Given the description of an element on the screen output the (x, y) to click on. 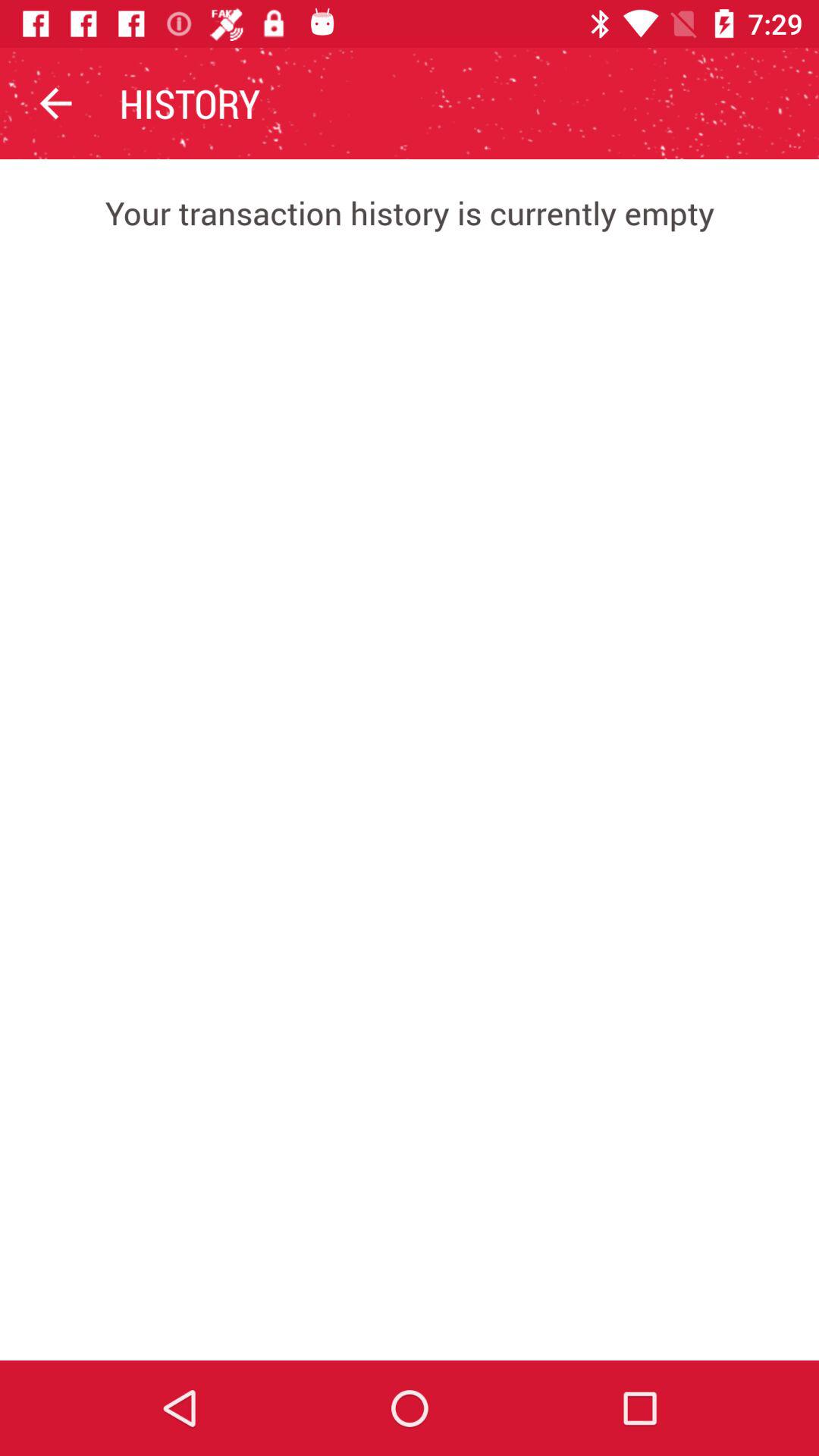
turn off icon above the your transaction history icon (55, 103)
